Given the description of an element on the screen output the (x, y) to click on. 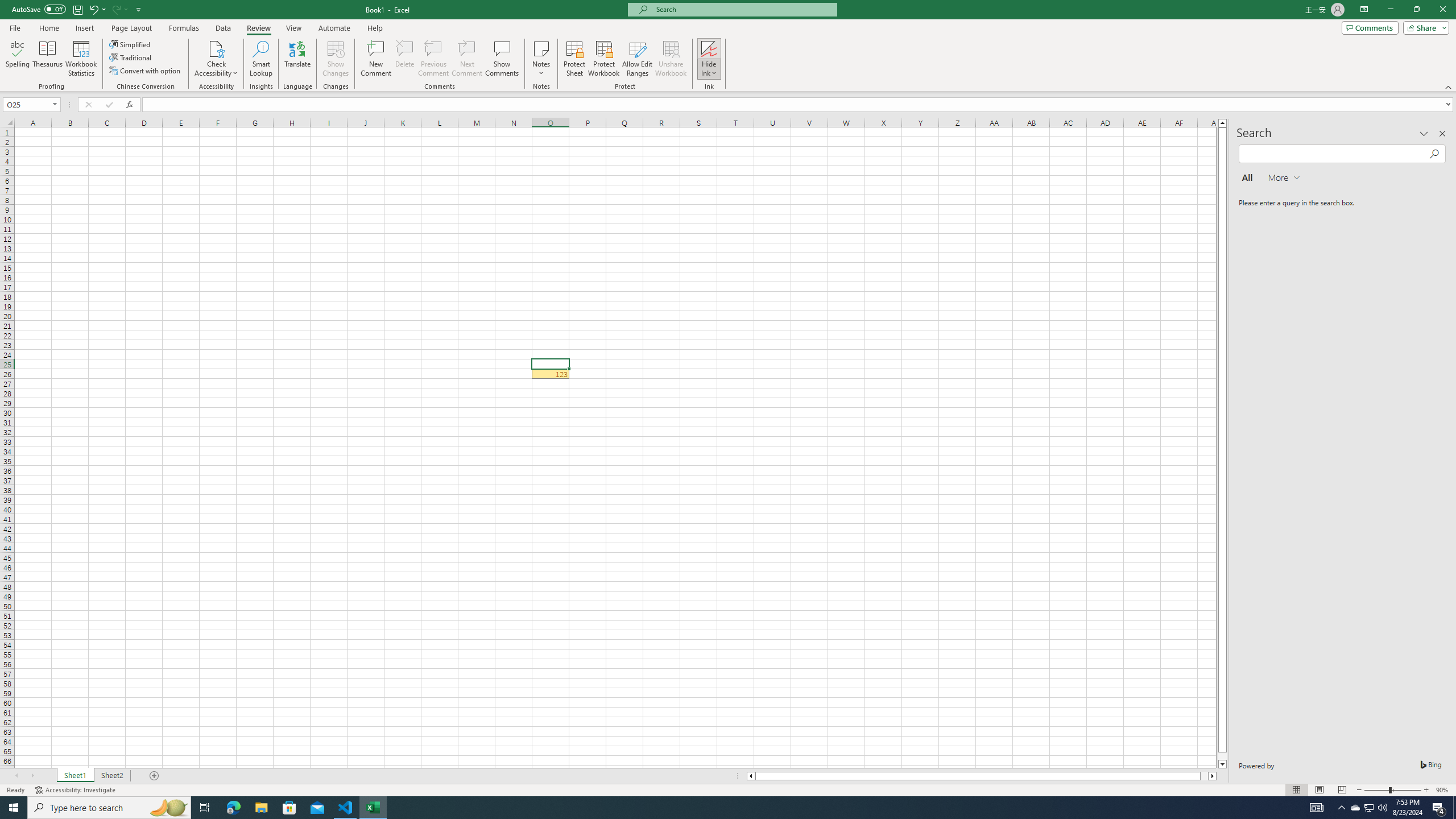
Page down (1222, 756)
Page Layout (131, 28)
Protect Workbook... (603, 58)
Normal (1296, 790)
Show Changes (335, 58)
Restore Down (1416, 9)
